Given the description of an element on the screen output the (x, y) to click on. 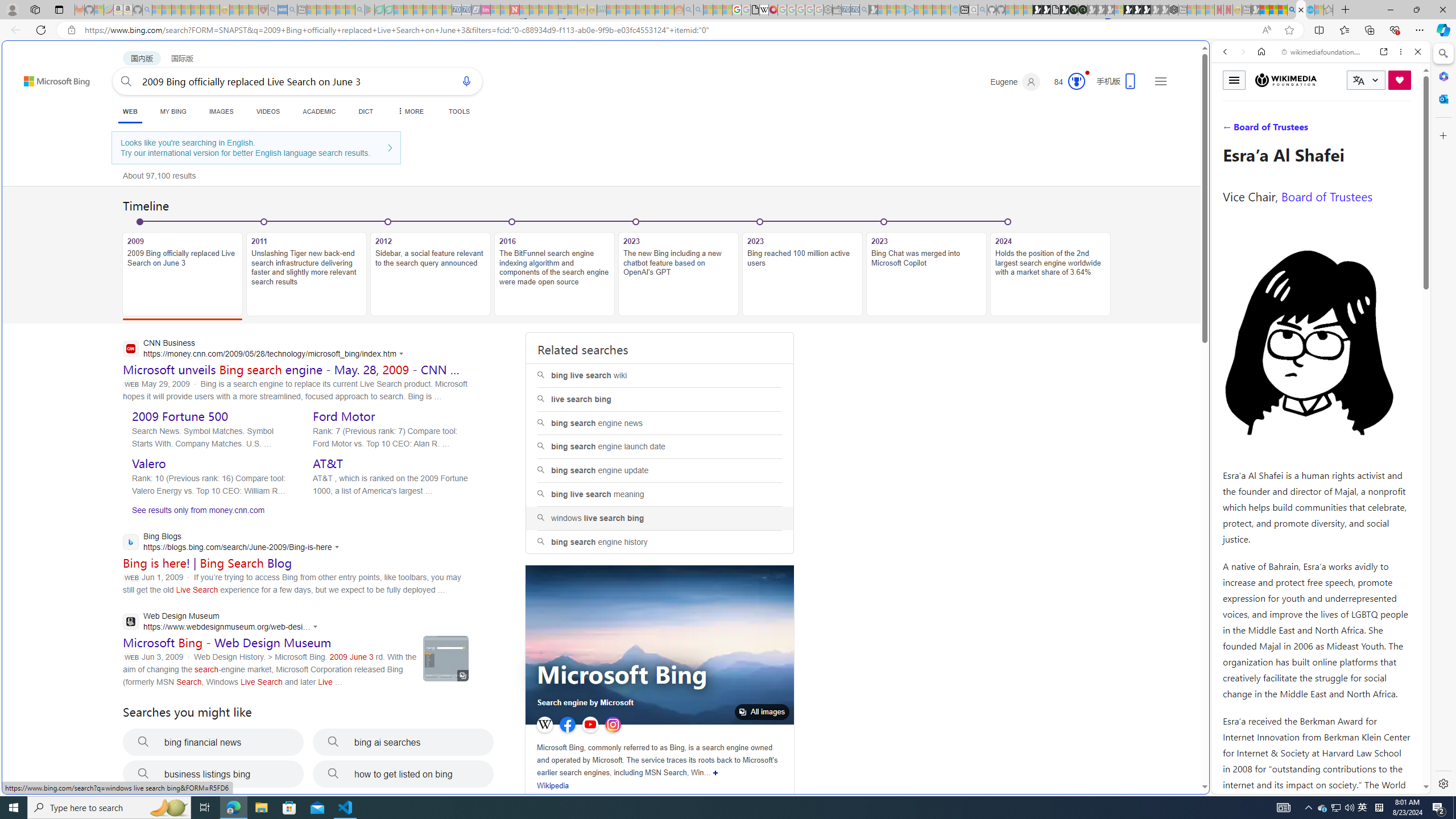
AutomationID: rh_meter (1076, 80)
Play Cave FRVR in your browser | Games from Microsoft Start (922, 242)
Home | Sky Blue Bikes - Sky Blue Bikes (1118, 242)
bing search engine news (659, 422)
